Given the description of an element on the screen output the (x, y) to click on. 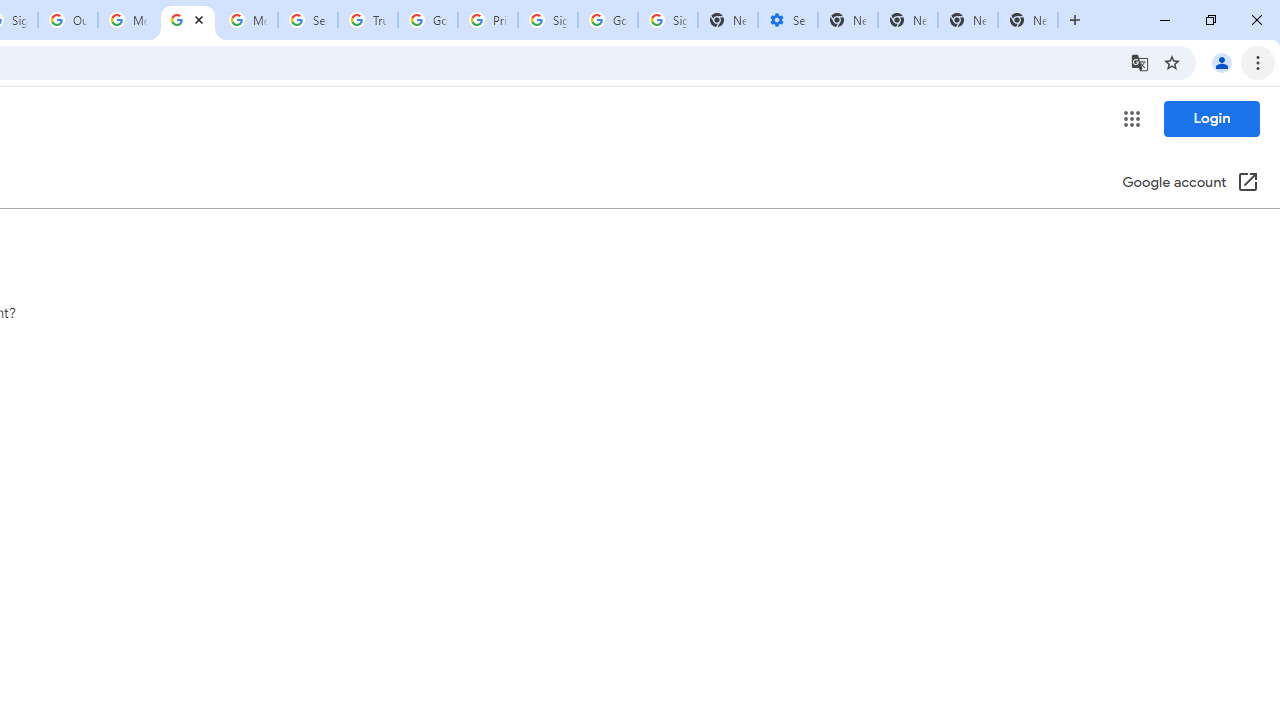
New Tab (1028, 20)
Get your account verified - Google Account Help (187, 20)
Translate this page (1139, 62)
Google Account (Opens in new window) (1190, 183)
Login (1211, 118)
Settings - Performance (787, 20)
Google Cybersecurity Innovations - Google Safety Center (607, 20)
